Given the description of an element on the screen output the (x, y) to click on. 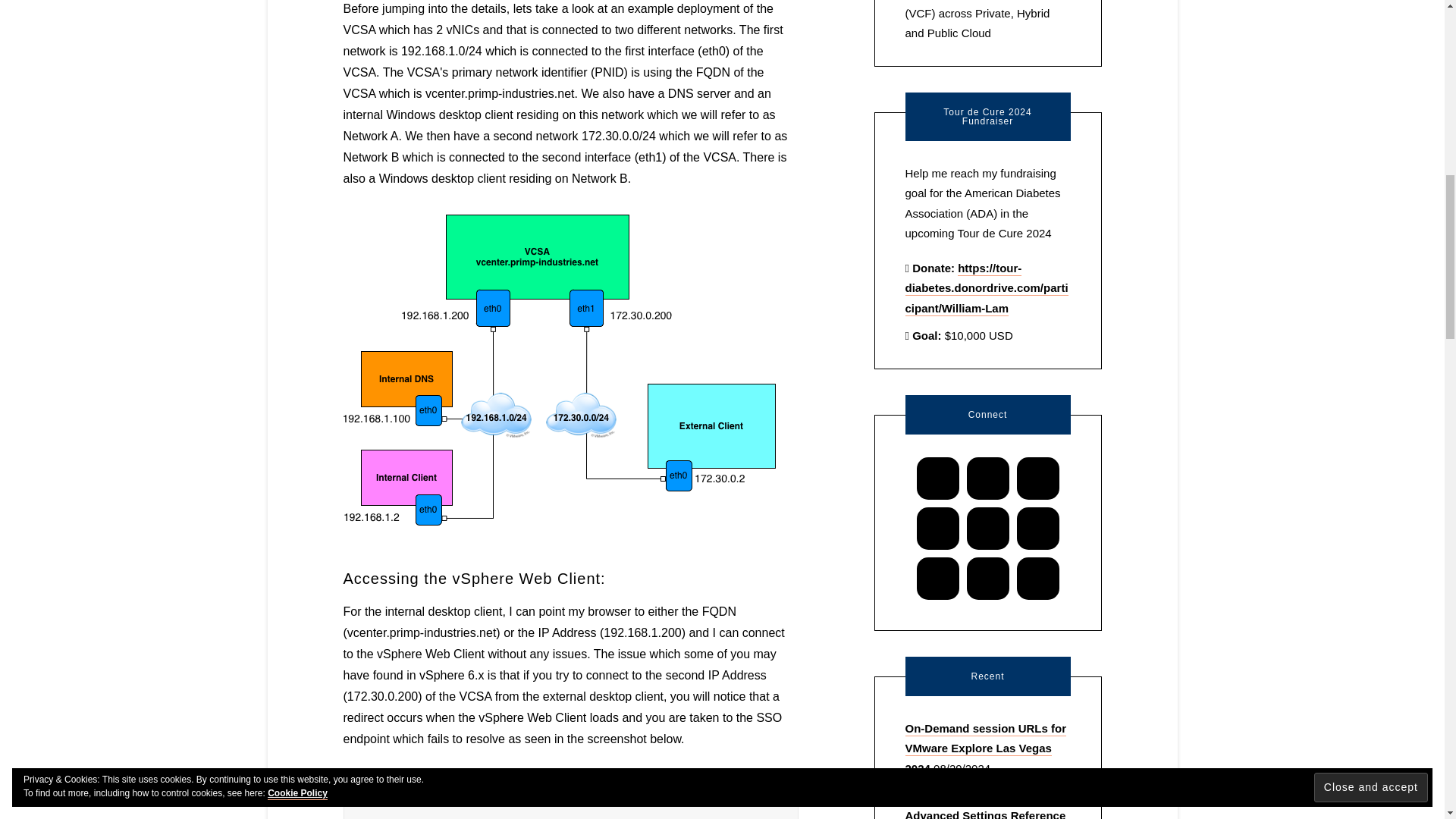
Mastodon (987, 528)
GitHub (1037, 478)
Vimeo (1037, 578)
Bluesky (936, 478)
Twitter (987, 578)
RSS (937, 578)
LinkedIn (937, 528)
Reddit (1037, 528)
Email (987, 478)
